Given the description of an element on the screen output the (x, y) to click on. 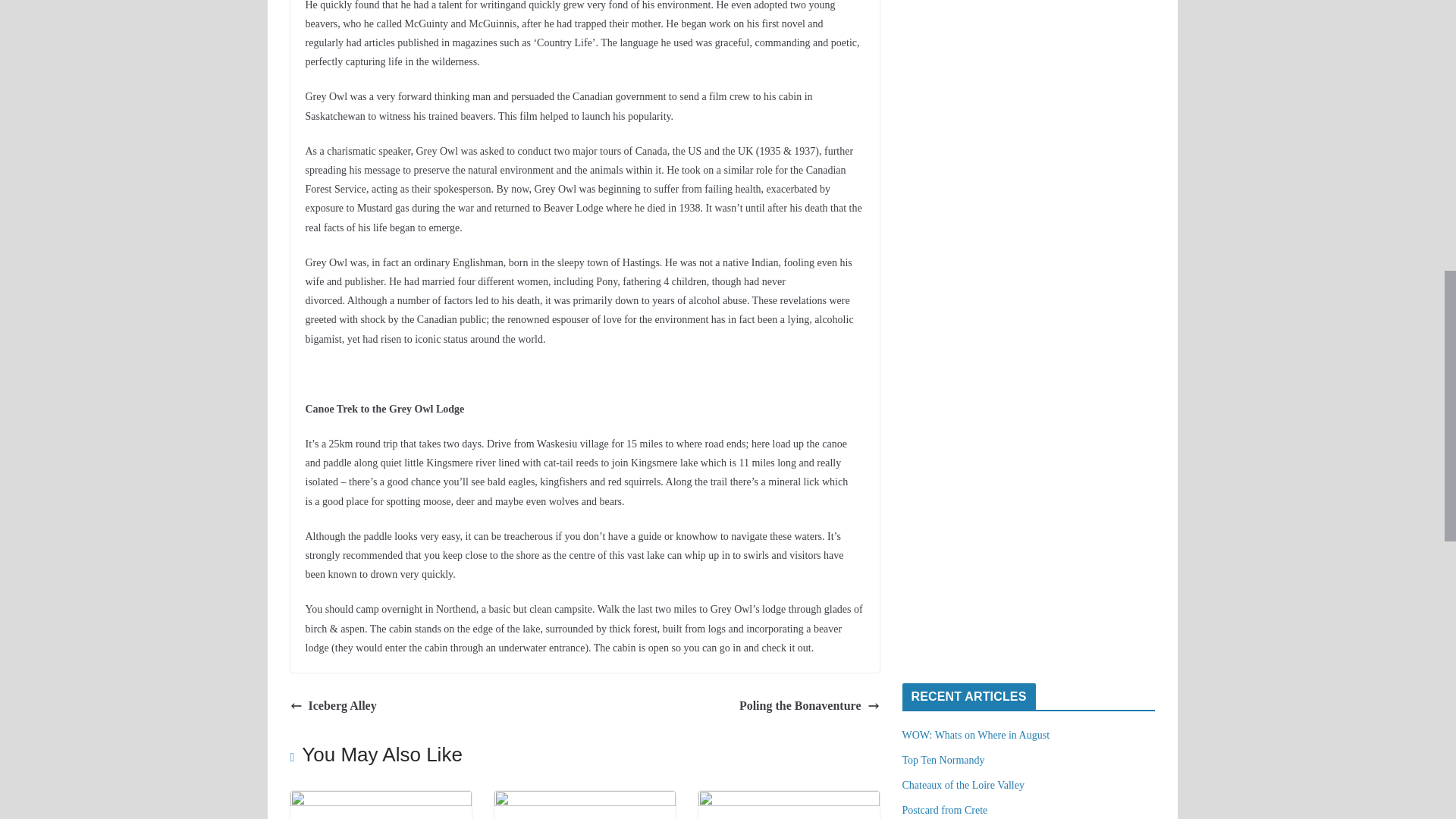
Around Chile In 10 Adventures (379, 800)
Iceberg Alley (332, 706)
Poling the Bonaventure (809, 706)
